Given the description of an element on the screen output the (x, y) to click on. 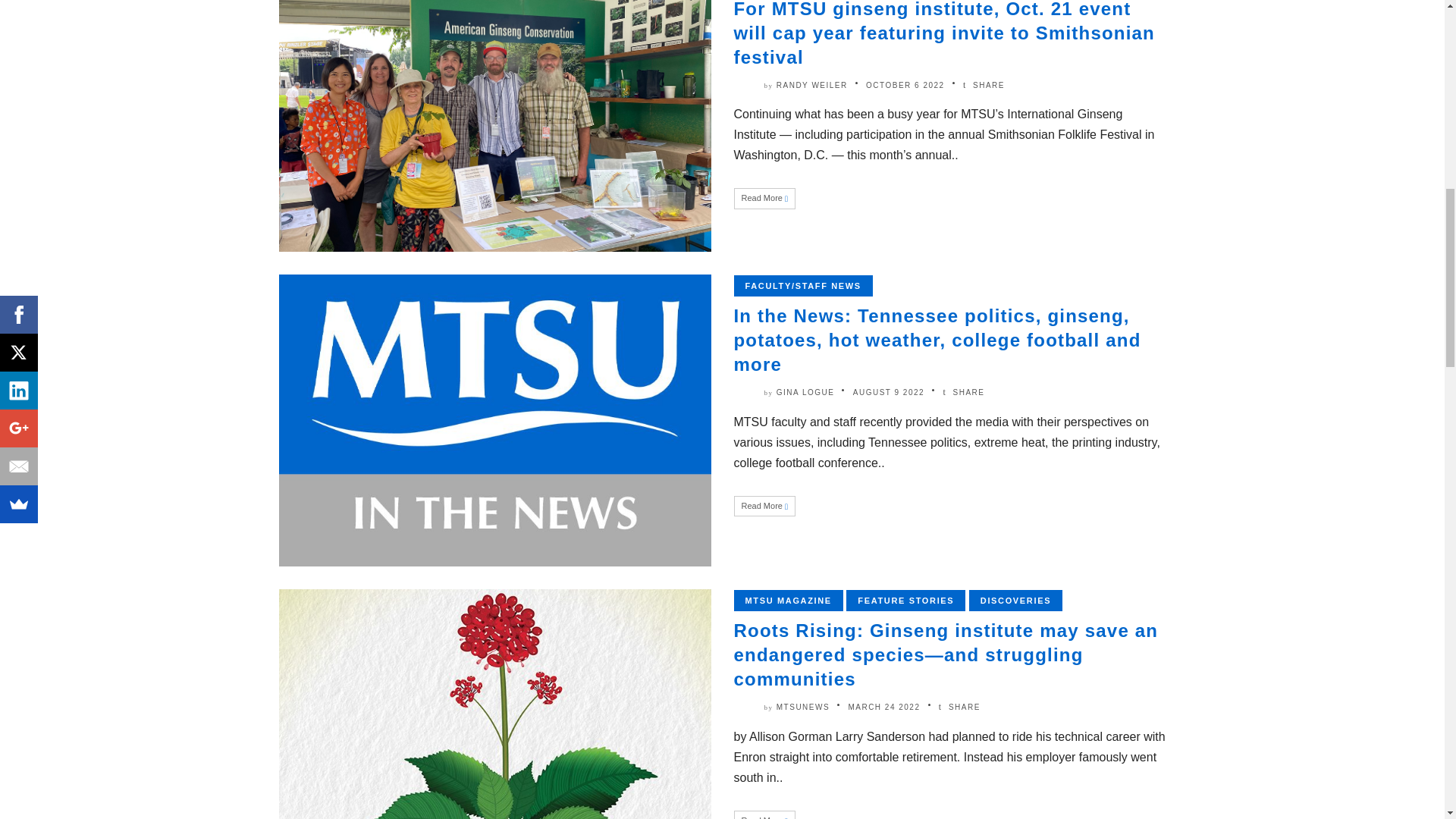
October 6, 2022 3:07 (905, 85)
Posts by Gina Logue (805, 392)
March 24, 2022 4:57 (883, 706)
August 9, 2022 5:23 (888, 392)
Posts by mtsunews (802, 706)
Posts by Randy Weiler (811, 85)
